Given the description of an element on the screen output the (x, y) to click on. 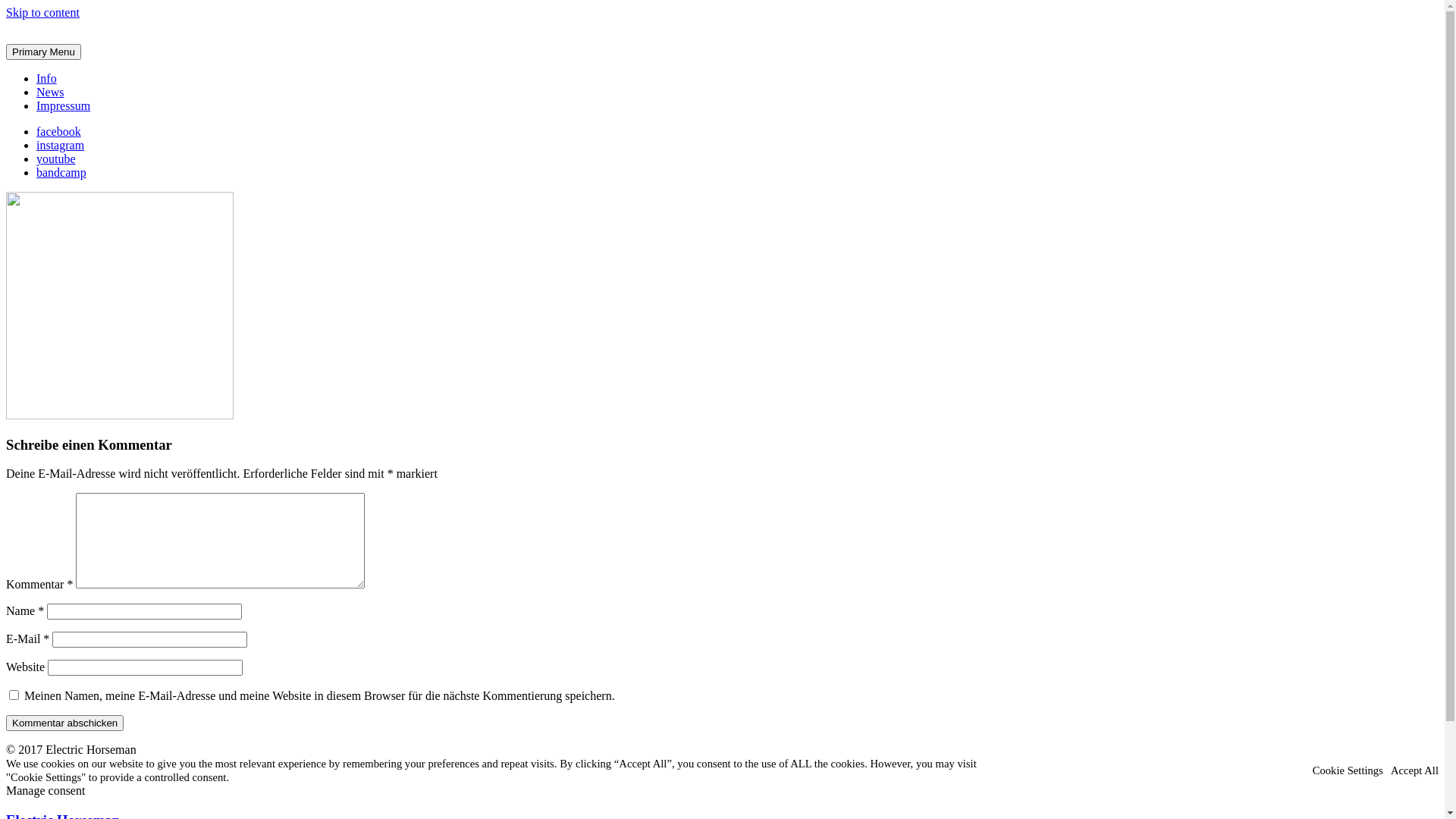
Info Element type: text (46, 78)
youtube Element type: text (60, 158)
Accept All Element type: text (1414, 770)
Impressum Element type: text (63, 105)
bandcamp Element type: text (65, 172)
Cookie Settings Element type: text (1347, 770)
Primary Menu Element type: text (43, 51)
Skip to content Element type: text (42, 12)
News Element type: text (49, 91)
facebook Element type: text (63, 131)
instagram Element type: text (64, 145)
Kommentar abschicken Element type: text (64, 723)
Electric Horseman Element type: text (51, 62)
